Given the description of an element on the screen output the (x, y) to click on. 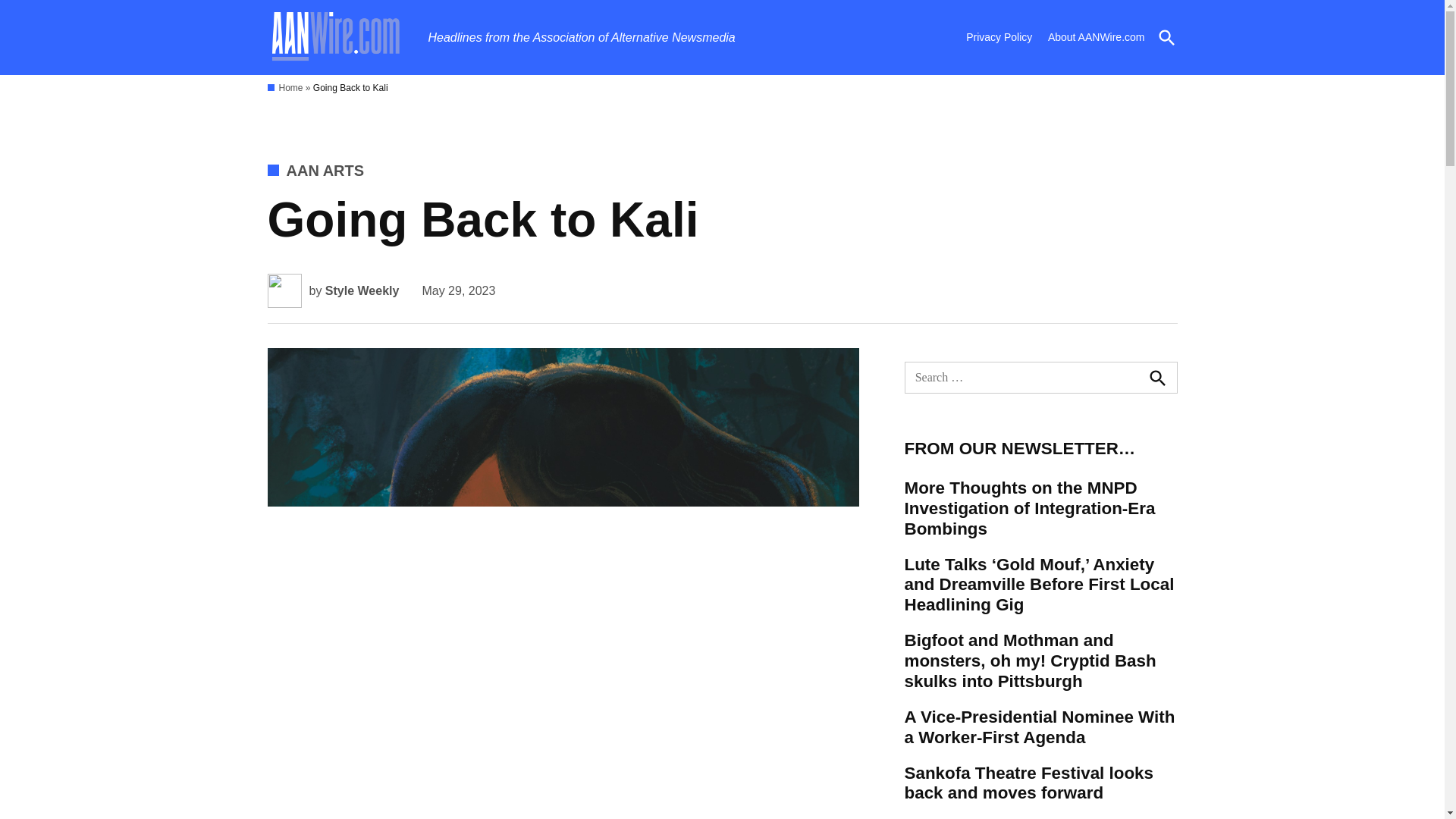
A Vice-Presidential Nominee With a Worker-First Agenda (1040, 727)
AANWire.com (473, 40)
Sankofa Theatre Festival looks back and moves forward (1040, 783)
Style Weekly (361, 290)
About AANWire.com (1096, 37)
Search (1156, 377)
Privacy Policy (999, 37)
